Given the description of an element on the screen output the (x, y) to click on. 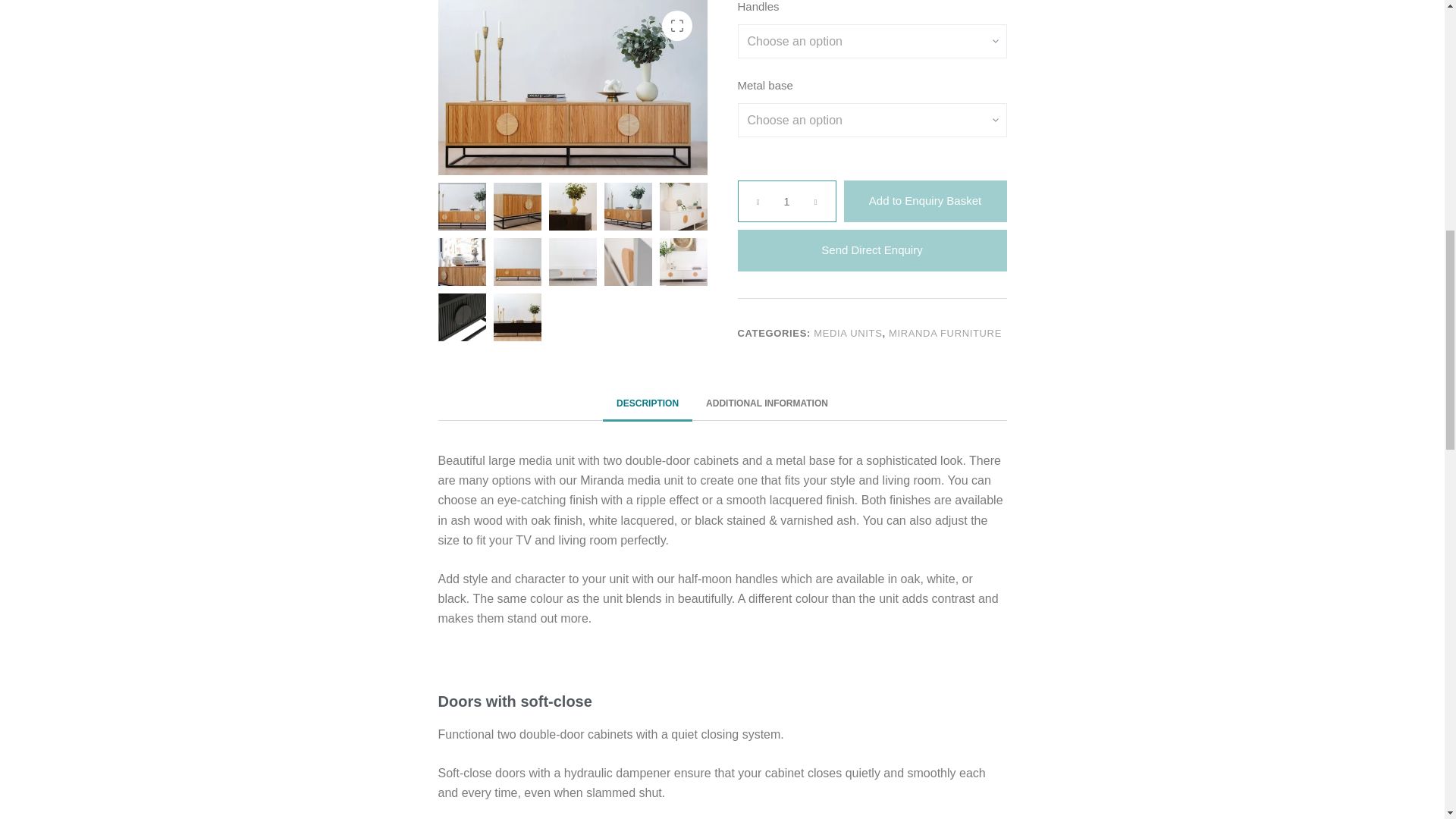
1 (785, 200)
